Given the description of an element on the screen output the (x, y) to click on. 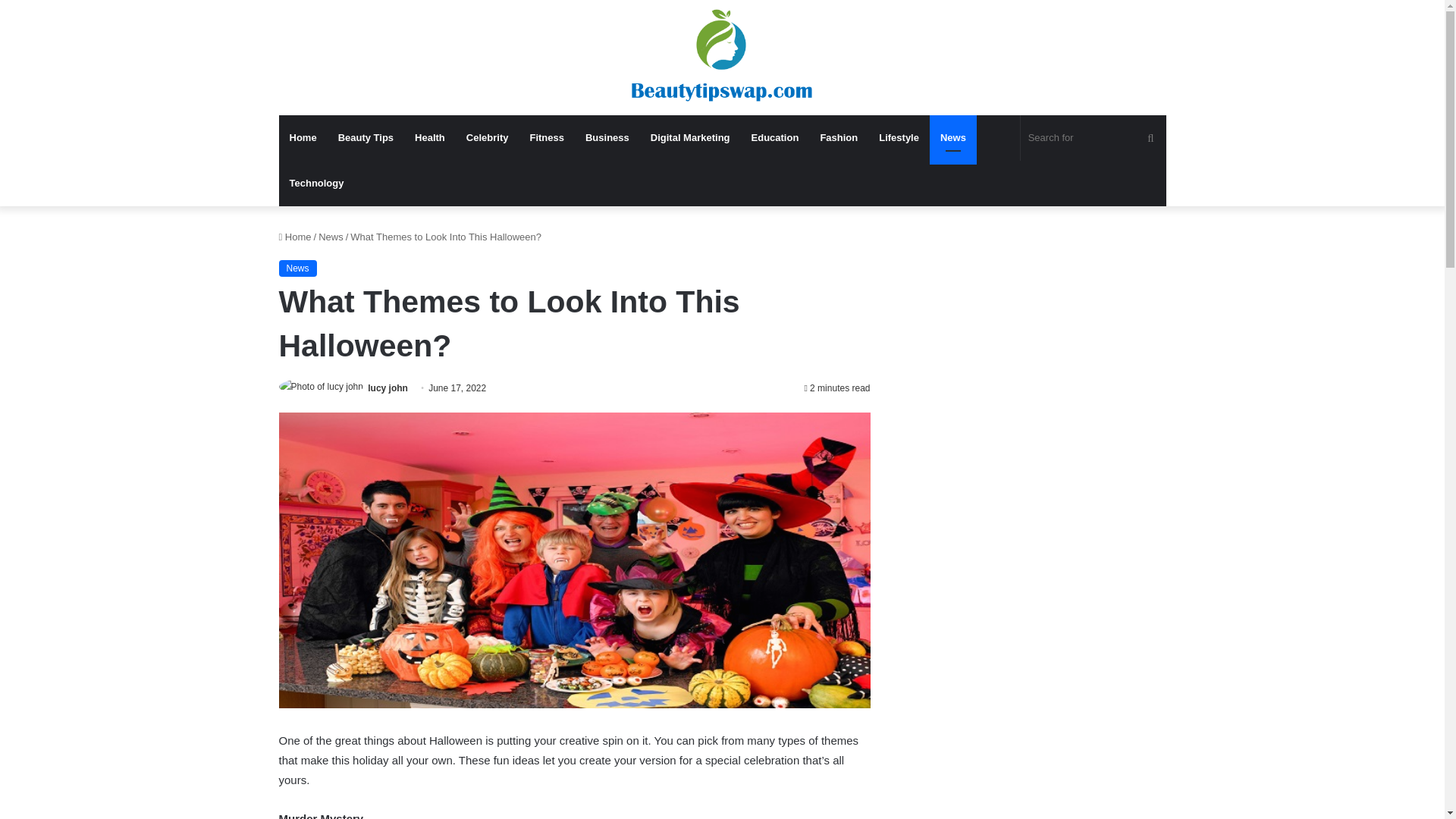
lucy john (387, 388)
Technology (317, 183)
Home (303, 137)
News (330, 236)
Fashion (838, 137)
News (953, 137)
Lifestyle (898, 137)
Fitness (546, 137)
Home (295, 236)
Business (607, 137)
Search for (1093, 137)
Digital Marketing (690, 137)
Celebrity (487, 137)
Education (775, 137)
News (298, 268)
